Given the description of an element on the screen output the (x, y) to click on. 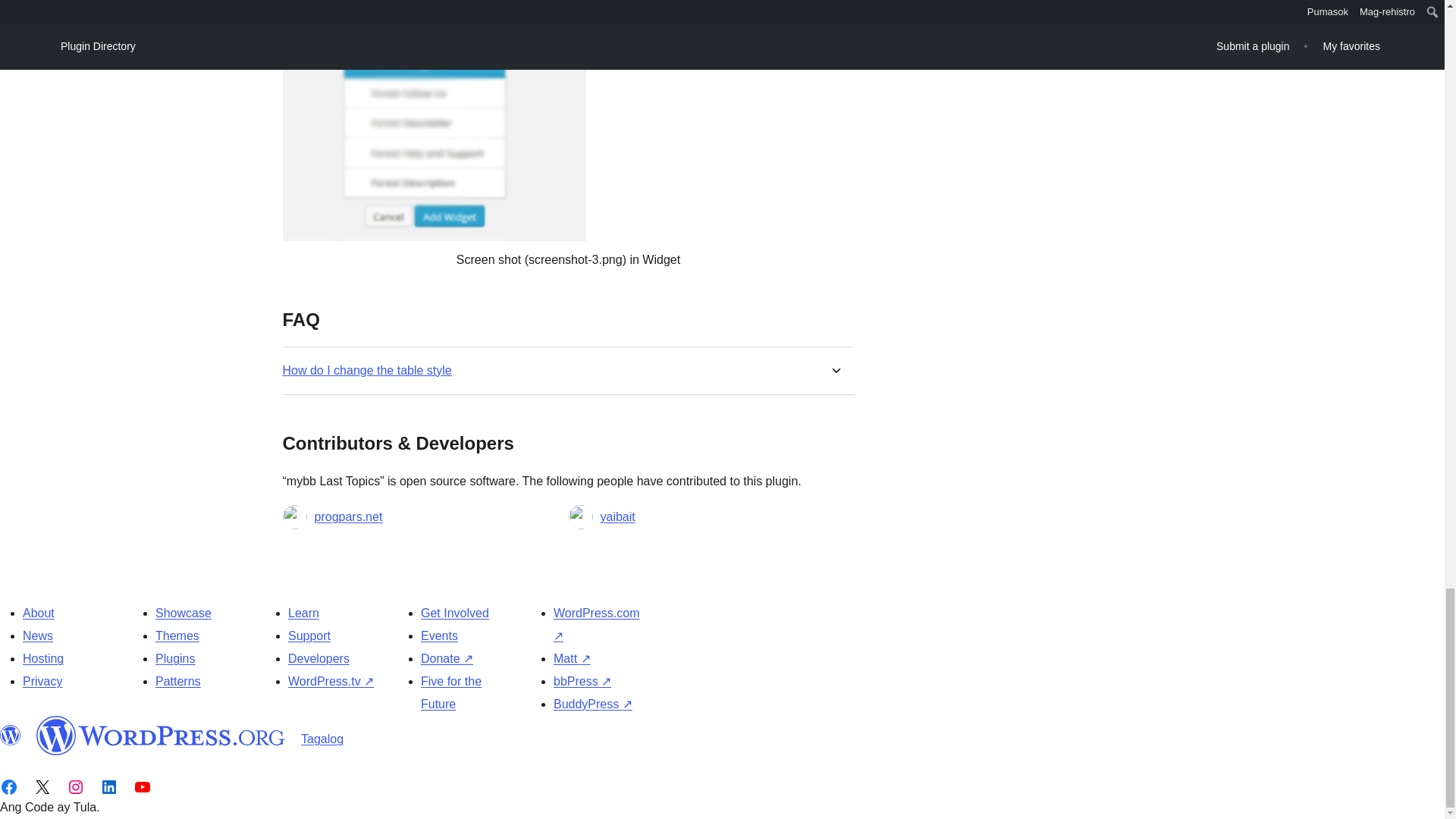
WordPress.org (160, 735)
WordPress.org (10, 735)
